Given the description of an element on the screen output the (x, y) to click on. 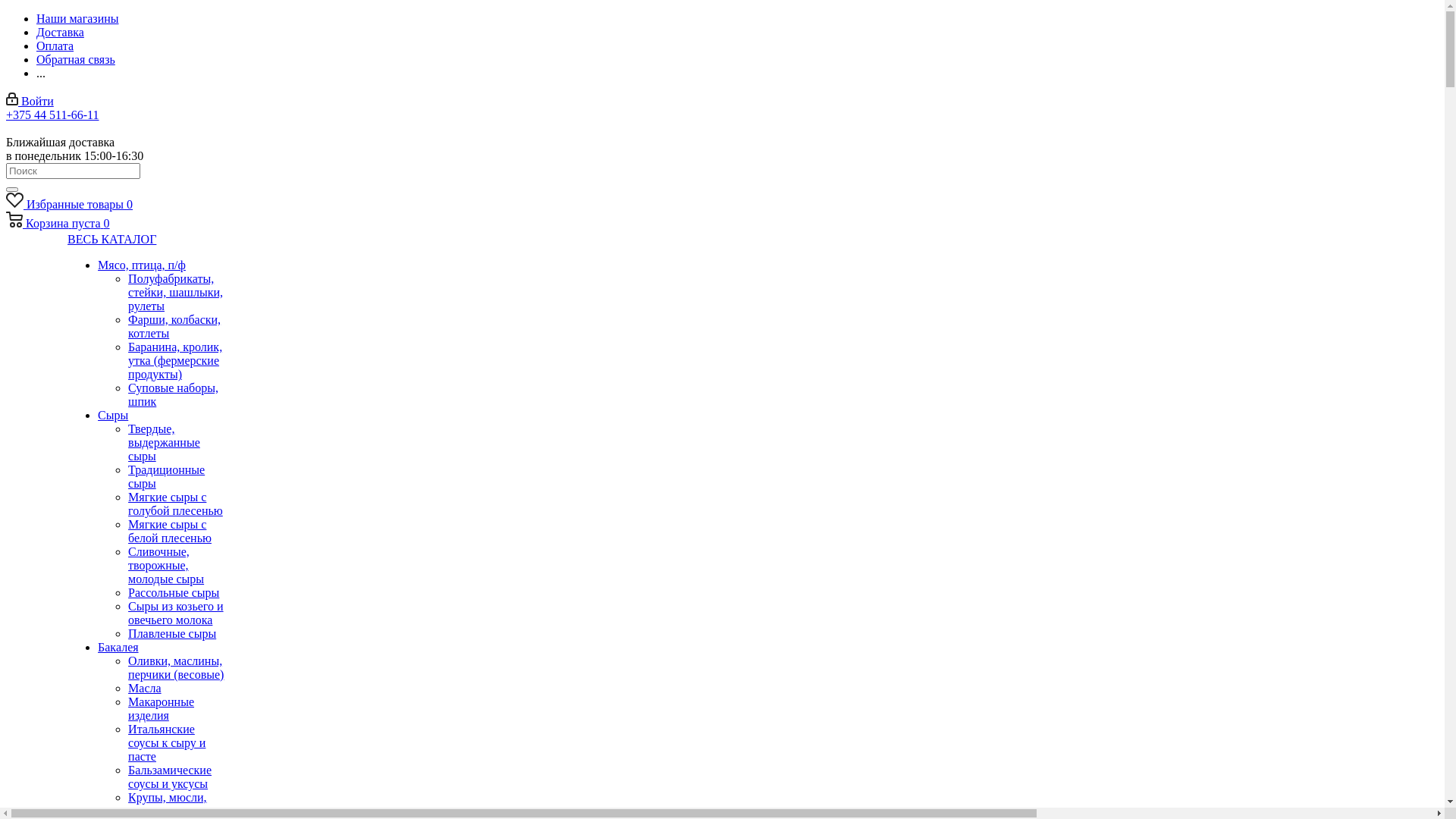
+375 44 511-66-11 Element type: text (52, 114)
